Given the description of an element on the screen output the (x, y) to click on. 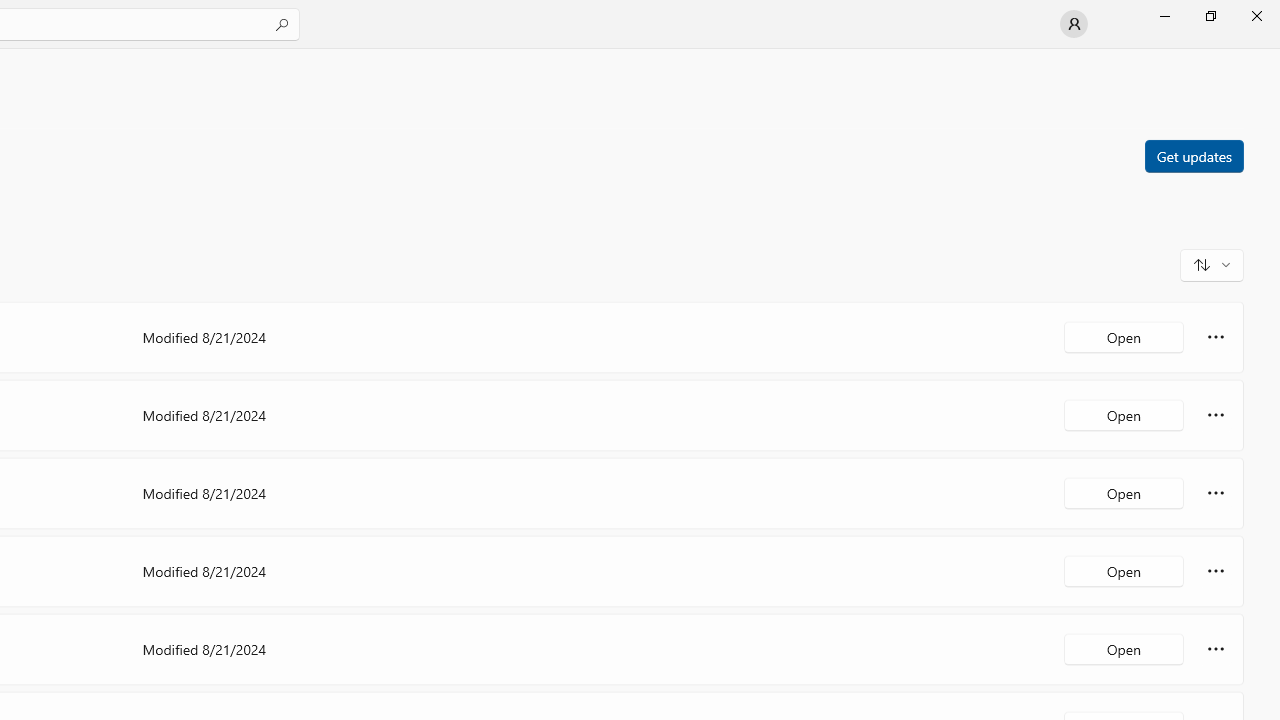
Open (1123, 648)
Close Microsoft Store (1256, 15)
Minimize Microsoft Store (1164, 15)
More options (1215, 648)
Get updates (1193, 155)
User profile (1073, 24)
Restore Microsoft Store (1210, 15)
Sort and filter (1212, 263)
